Given the description of an element on the screen output the (x, y) to click on. 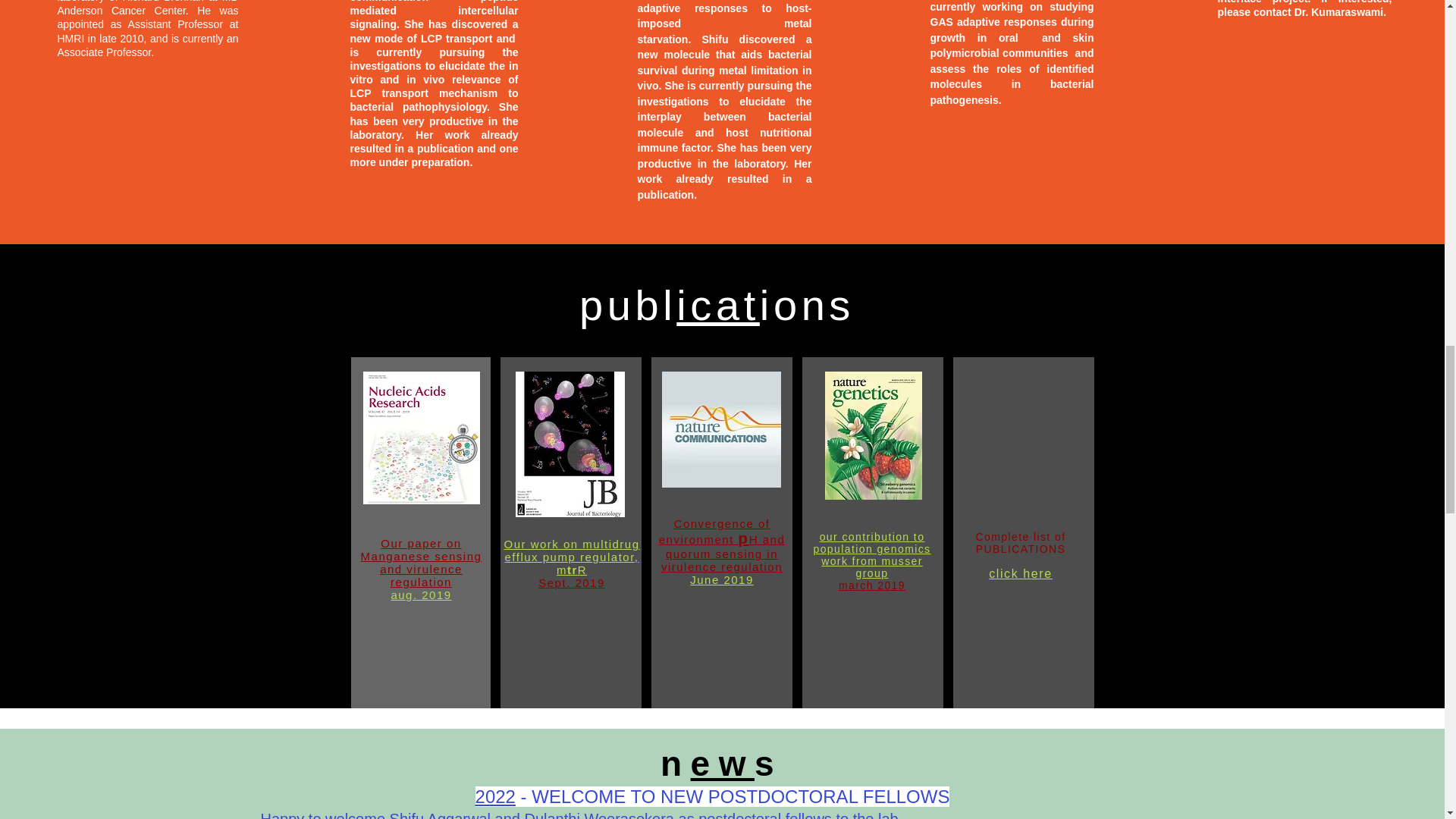
Convergence of environment (714, 531)
June 2019 (722, 579)
Our paper on Manganese sensing and virulence regulation (421, 562)
Our work on multidrug efflux pump regulator, mtrR (571, 556)
H and quorum sensing in virulence regulation (722, 553)
click here (1020, 573)
